Given the description of an element on the screen output the (x, y) to click on. 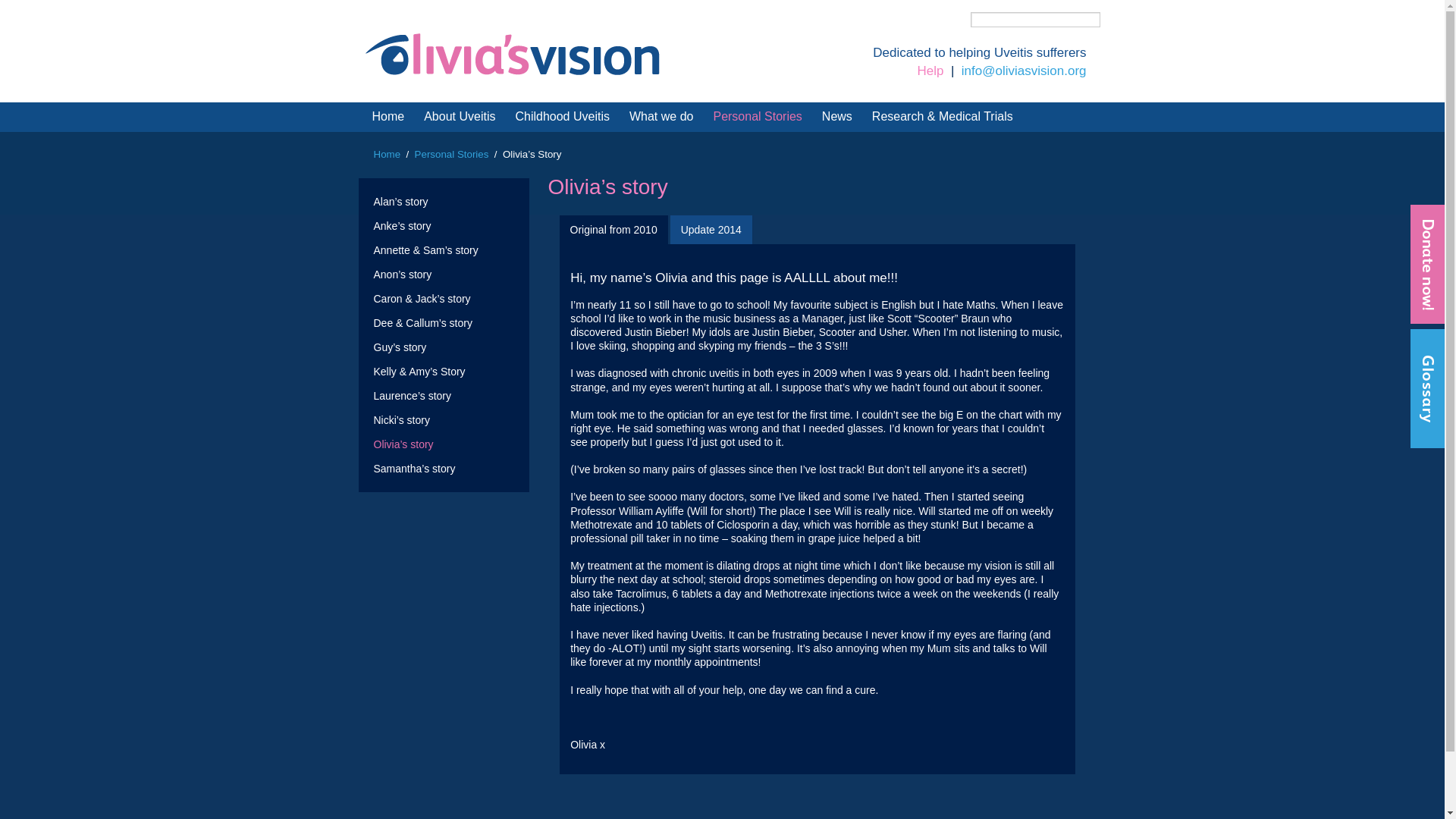
Personal Stories (451, 153)
Help (930, 70)
Home (388, 116)
What we do (661, 116)
Childhood Uveitis (562, 116)
About Uveitis (459, 116)
